Given the description of an element on the screen output the (x, y) to click on. 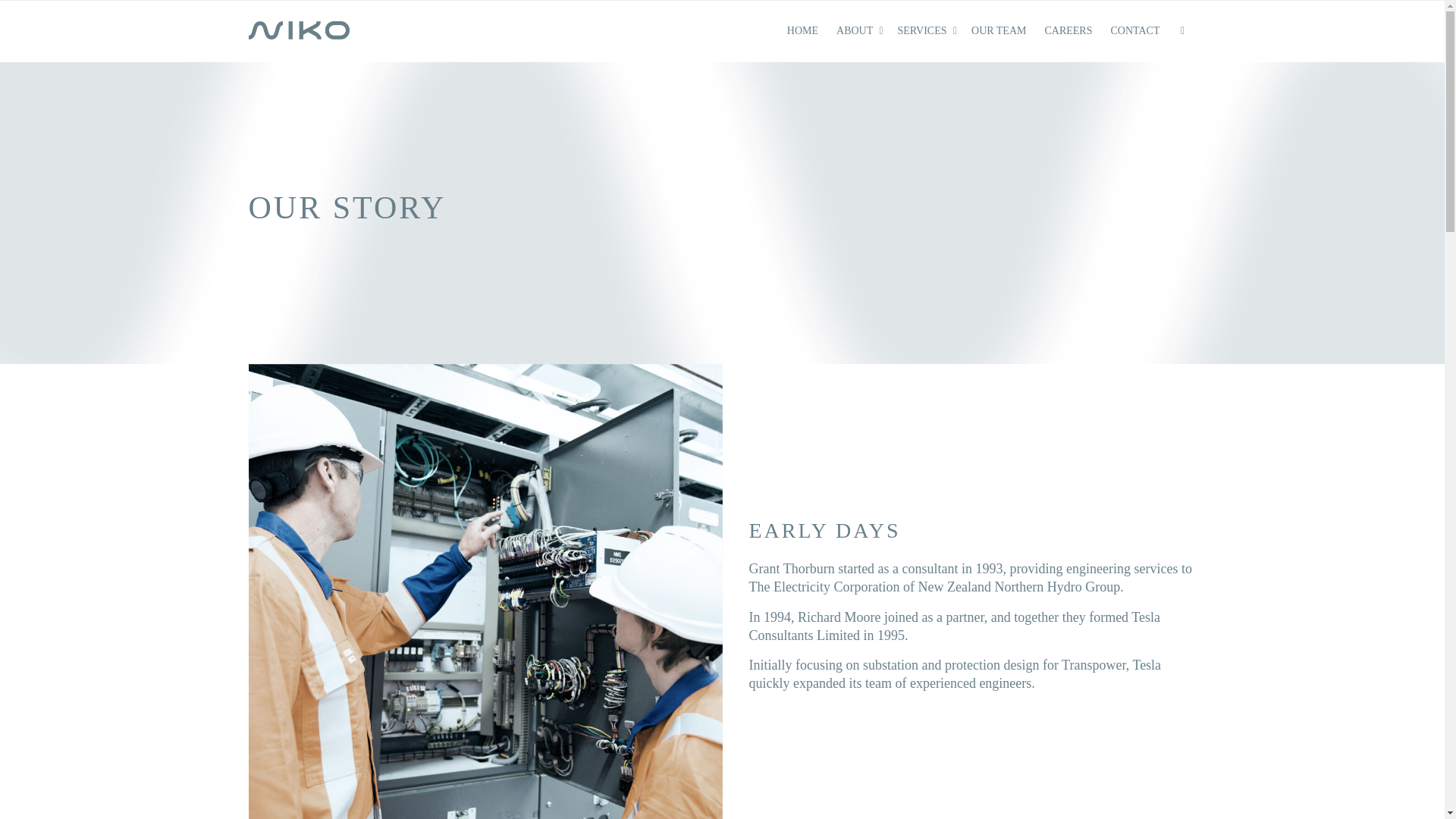
Niko (299, 30)
OUR TEAM (998, 30)
SERVICES (925, 30)
OUR TEAM (998, 30)
SERVICES (925, 30)
